Given the description of an element on the screen output the (x, y) to click on. 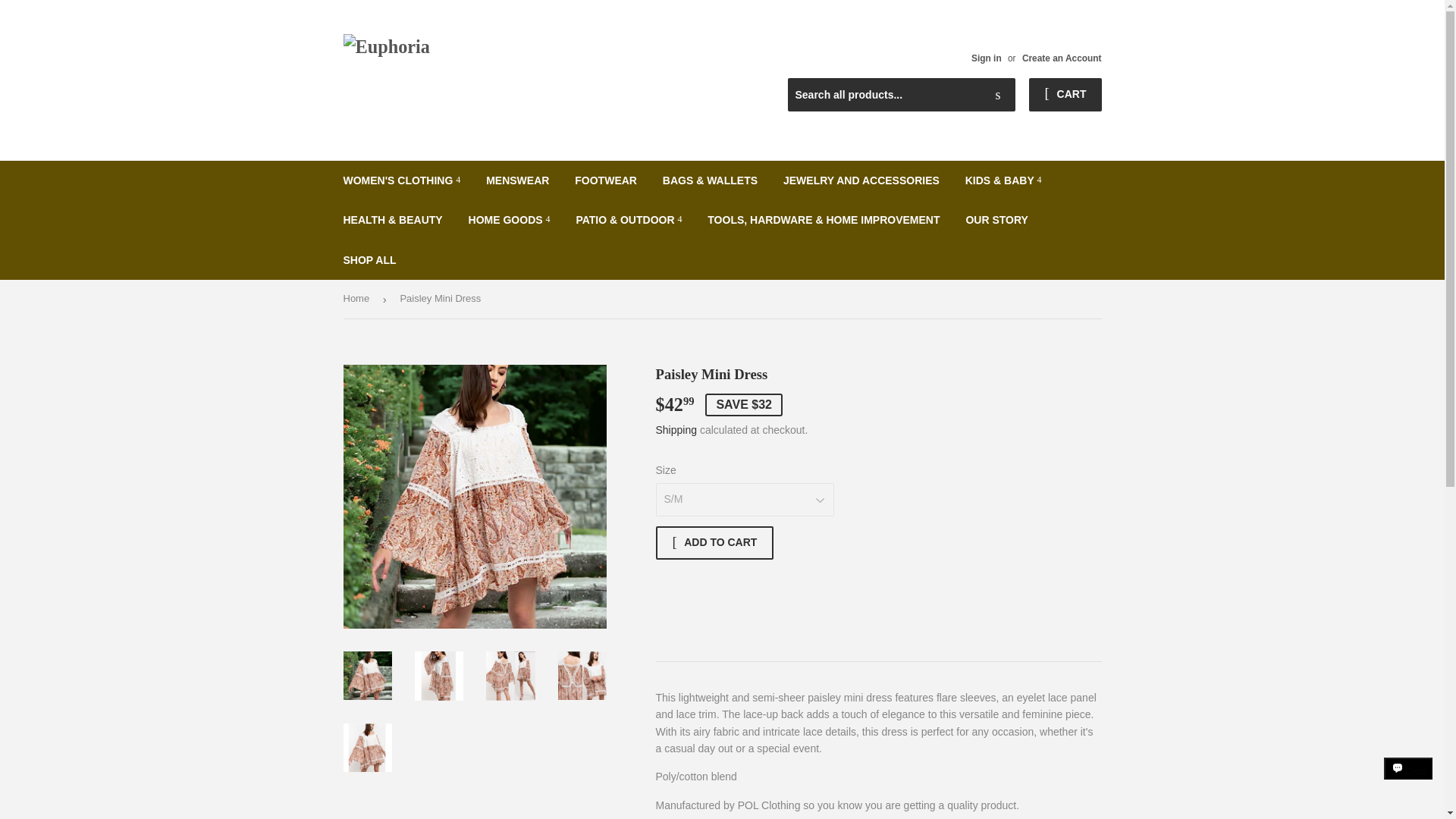
Create an Account (1062, 58)
Search (997, 95)
CART (1064, 94)
Sign in (986, 58)
Shopify online store chat (1408, 781)
